Given the description of an element on the screen output the (x, y) to click on. 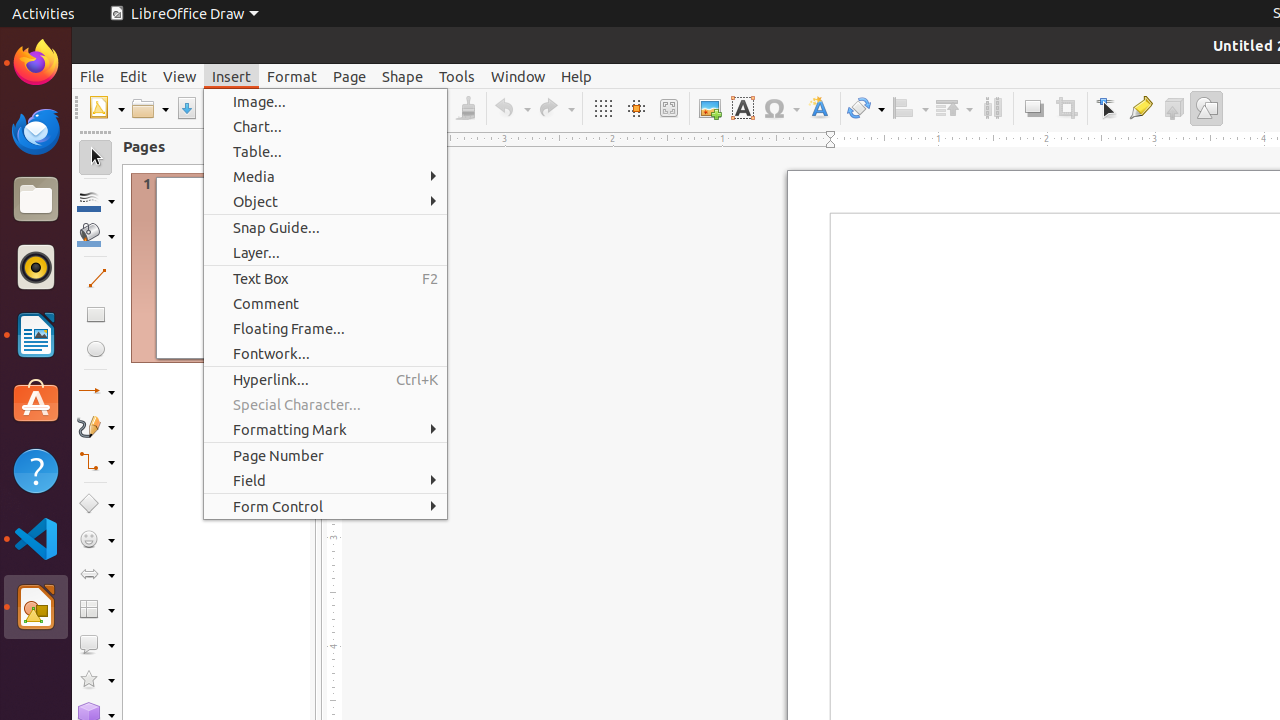
LibreOffice Draw Element type: menu (183, 13)
Tools Element type: menu (457, 76)
Field Element type: menu (325, 480)
Fontwork... Element type: menu-item (325, 353)
Align Element type: push-button (910, 108)
